Given the description of an element on the screen output the (x, y) to click on. 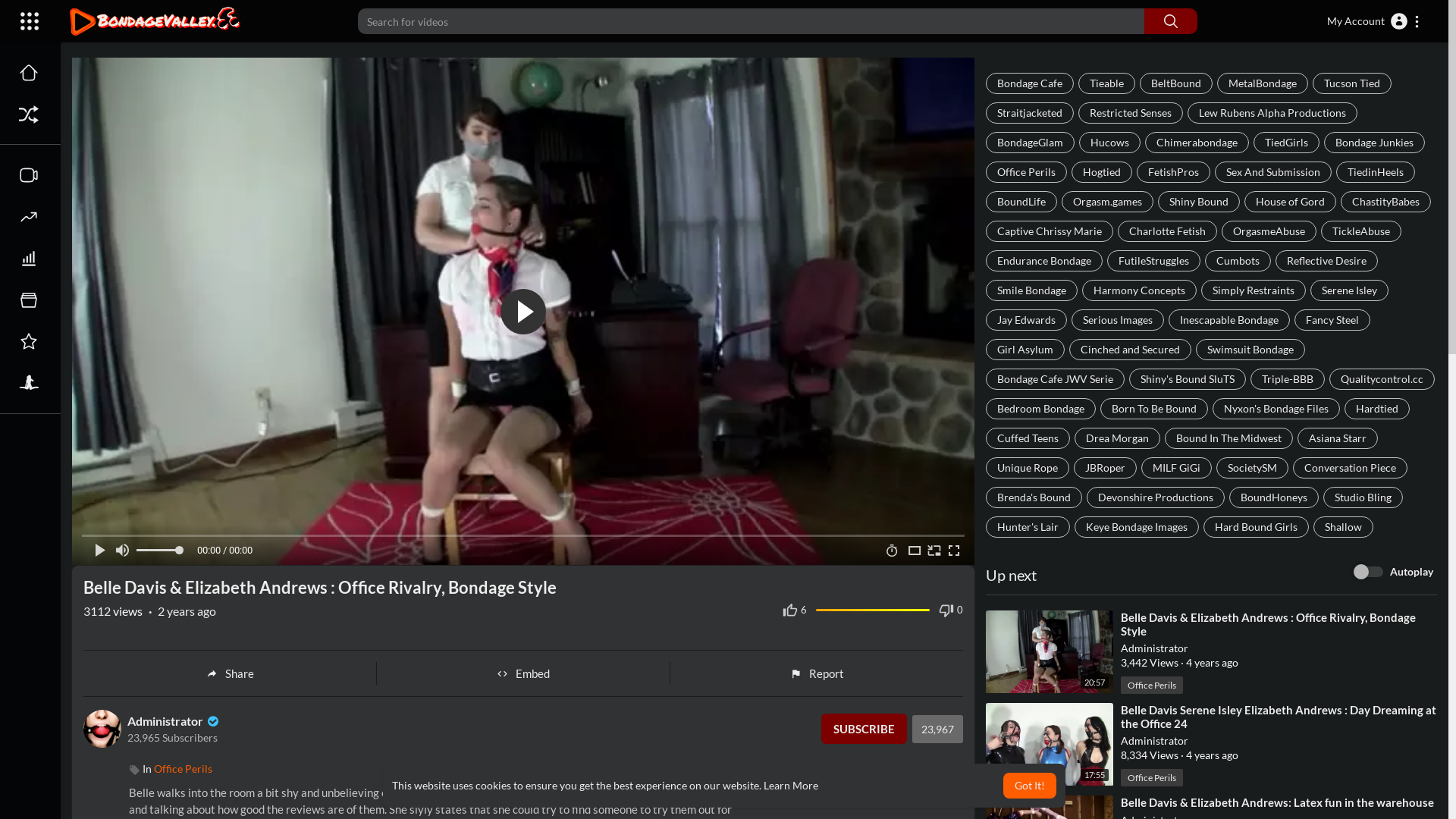
Shallow Element type: text (1343, 526)
Bound In The Midwest Element type: text (1228, 437)
Fancy Steel Element type: text (1332, 319)
Chimerabondage Element type: text (1196, 142)
Harmony Concepts Element type: text (1139, 290)
0 Element type: text (950, 610)
Report Element type: text (816, 673)
Endurance Bondage Element type: text (1043, 260)
Administrator Element type: text (174, 720)
Studio Bling Element type: text (1362, 497)
TiedGirls Element type: text (1286, 142)
Hucows Element type: text (1109, 142)
Share Element type: text (229, 673)
  My Account   Element type: text (1373, 20)
Swimsuit Bondage Element type: text (1250, 349)
Restricted Senses Element type: text (1130, 112)
Triple-BBB Element type: text (1287, 378)
BoundHoneys Element type: text (1273, 497)
Nyxon's Bondage Files Element type: text (1275, 408)
Hogtied Element type: text (1101, 171)
Girl Asylum Element type: text (1024, 349)
OrgasmeAbuse Element type: text (1268, 230)
Cinched and Secured Element type: text (1130, 349)
Serene Isley Element type: text (1349, 290)
Shiny's Bound SluTS Element type: text (1187, 378)
Simply Restraints Element type: text (1253, 290)
Unique Rope Element type: text (1027, 467)
Orgasm.games Element type: text (1107, 201)
Embed Element type: text (523, 673)
17:55 Element type: text (1049, 743)
Sex And Submission Element type: text (1272, 171)
Brenda's Bound Element type: text (1033, 497)
Tucson Tied Element type: text (1351, 83)
Bondage Cafe JWV Serie Element type: text (1054, 378)
Born To Be Bound Element type: text (1154, 408)
Office Perils Element type: text (1151, 777)
Straitjacketed Element type: text (1029, 112)
Cumbots Element type: text (1237, 260)
SUBSCRIBE Element type: text (863, 728)
Shiny Bound Element type: text (1198, 201)
Office Perils Element type: text (182, 768)
TickleAbuse Element type: text (1361, 230)
Keye Bondage Images Element type: text (1136, 526)
20:57 Element type: text (1049, 651)
Reflective Desire Element type: text (1326, 260)
Cuffed Teens Element type: text (1027, 437)
Jay Edwards Element type: text (1025, 319)
Qualitycontrol.cc Element type: text (1381, 378)
JBRoper Element type: text (1104, 467)
BeltBound Element type: text (1175, 83)
Hunter's Lair Element type: text (1027, 526)
MILF GiGi Element type: text (1176, 467)
Captive Chrissy Marie Element type: text (1049, 230)
Serious Images Element type: text (1117, 319)
SocietySM Element type: text (1252, 467)
Bondage Junkies Element type: text (1374, 142)
Got It! Element type: text (1029, 785)
6 Element type: text (794, 610)
Asiana Starr Element type: text (1337, 437)
FetishPros Element type: text (1173, 171)
Drea Morgan Element type: text (1117, 437)
Tieable Element type: text (1106, 83)
MetalBondage Element type: text (1262, 83)
TiedinHeels Element type: text (1375, 171)
House of Gord Element type: text (1290, 201)
Office Perils Element type: text (1025, 171)
Inescapable Bondage Element type: text (1228, 319)
Devonshire Productions Element type: text (1155, 497)
BondageGlam Element type: text (1029, 142)
Bondage Cafe Element type: text (1029, 83)
Hard Bound Girls Element type: text (1255, 526)
Lew Rubens Alpha Productions Element type: text (1272, 112)
ChastityBabes Element type: text (1385, 201)
Learn More Element type: text (790, 784)
Bedroom Bondage Element type: text (1040, 408)
Conversation Piece Element type: text (1349, 467)
Hardtied Element type: text (1376, 408)
Smile Bondage Element type: text (1031, 290)
FutileStruggles Element type: text (1153, 260)
Charlotte Fetish Element type: text (1167, 230)
BoundLife Element type: text (1021, 201)
Office Perils Element type: text (1151, 684)
